Given the description of an element on the screen output the (x, y) to click on. 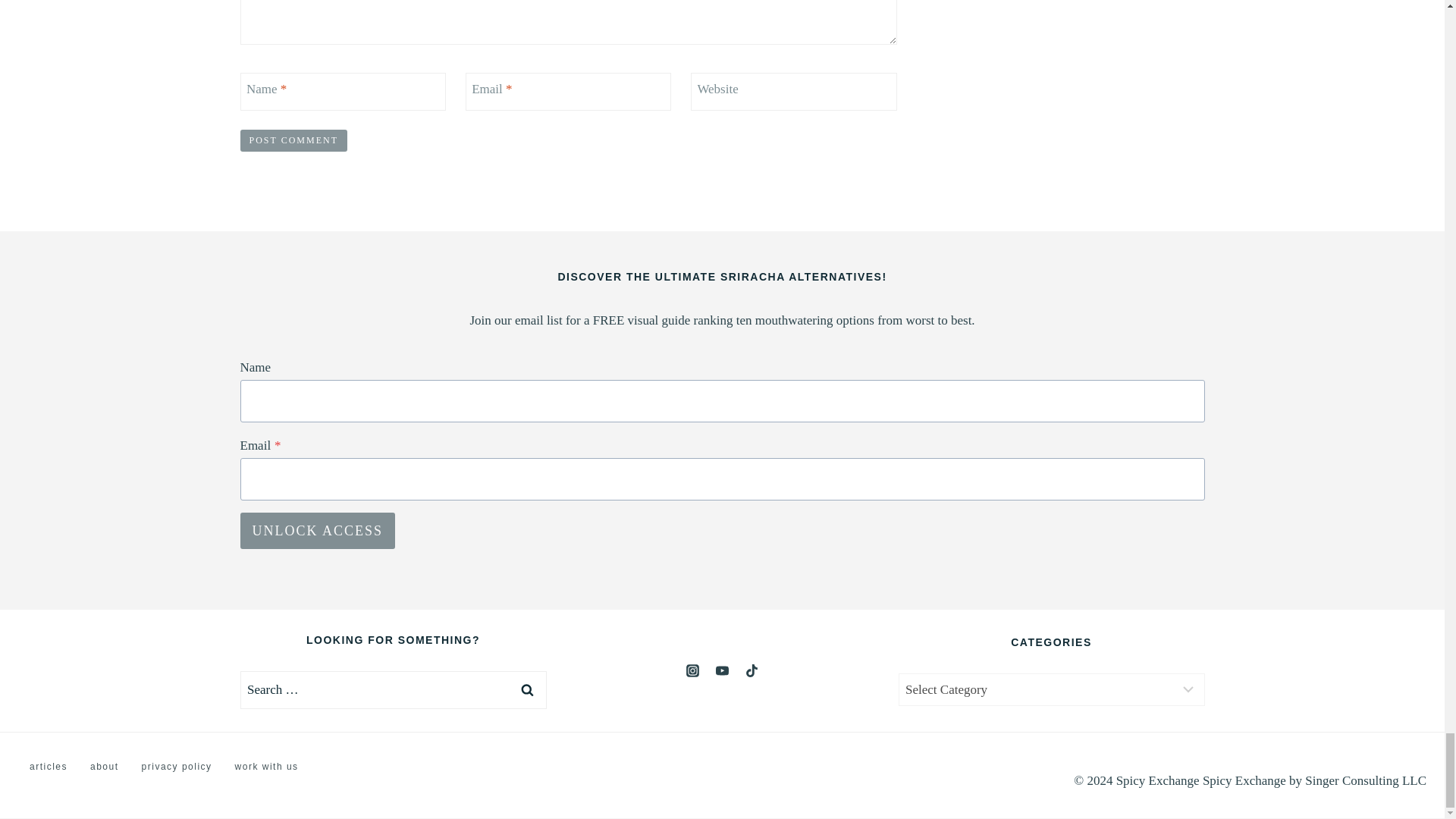
Search (527, 689)
Post Comment (293, 140)
Search (527, 689)
